Given the description of an element on the screen output the (x, y) to click on. 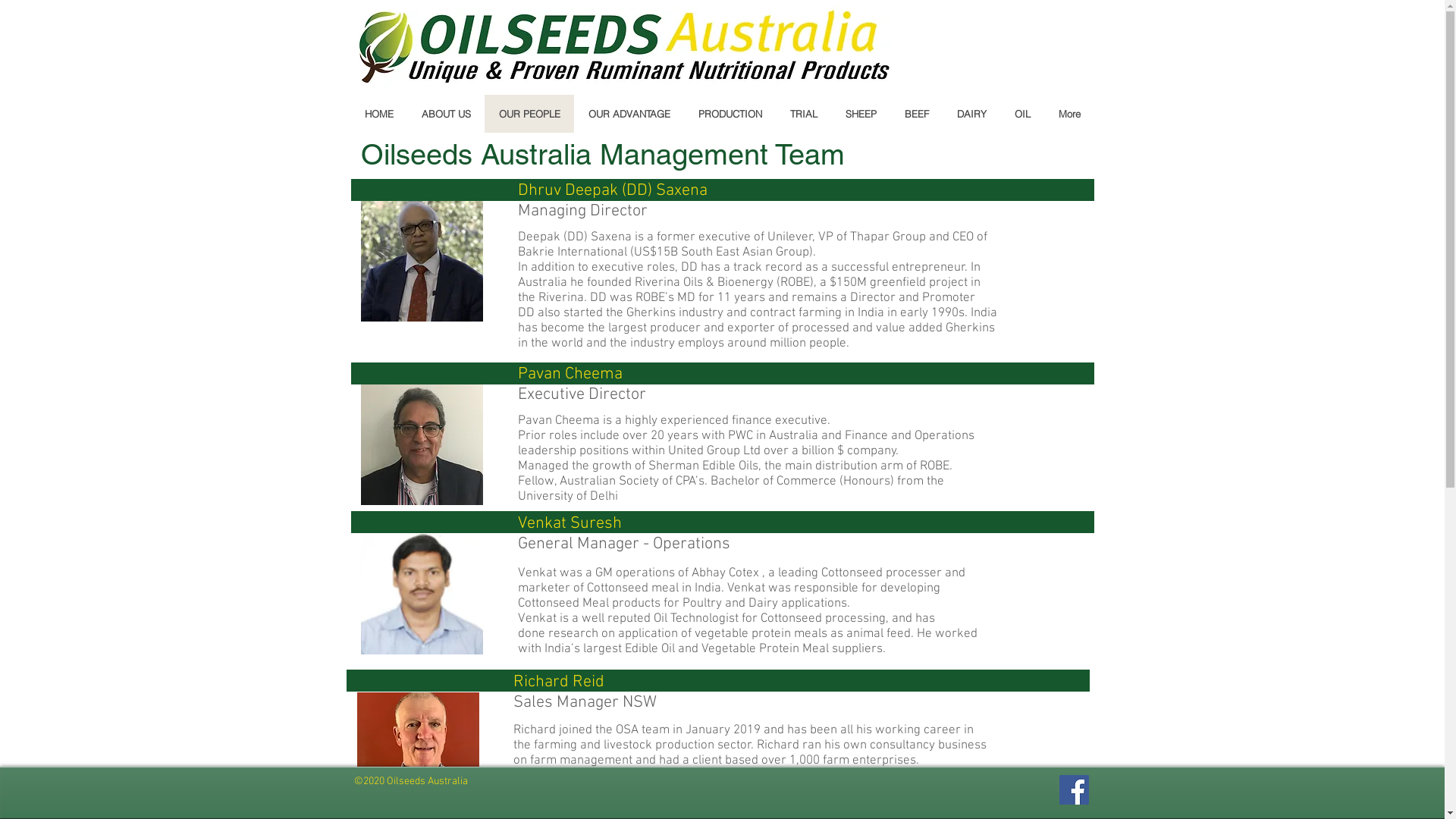
OUR ADVANTAGE Element type: text (628, 113)
DAIRY Element type: text (970, 113)
ABOUT US Element type: text (444, 113)
OUR PEOPLE Element type: text (528, 113)
BEEF Element type: text (916, 113)
OIL Element type: text (1021, 113)
SHEEP Element type: text (860, 113)
PRODUCTION Element type: text (729, 113)
TRIAL Element type: text (802, 113)
HOME Element type: text (378, 113)
